Given the description of an element on the screen output the (x, y) to click on. 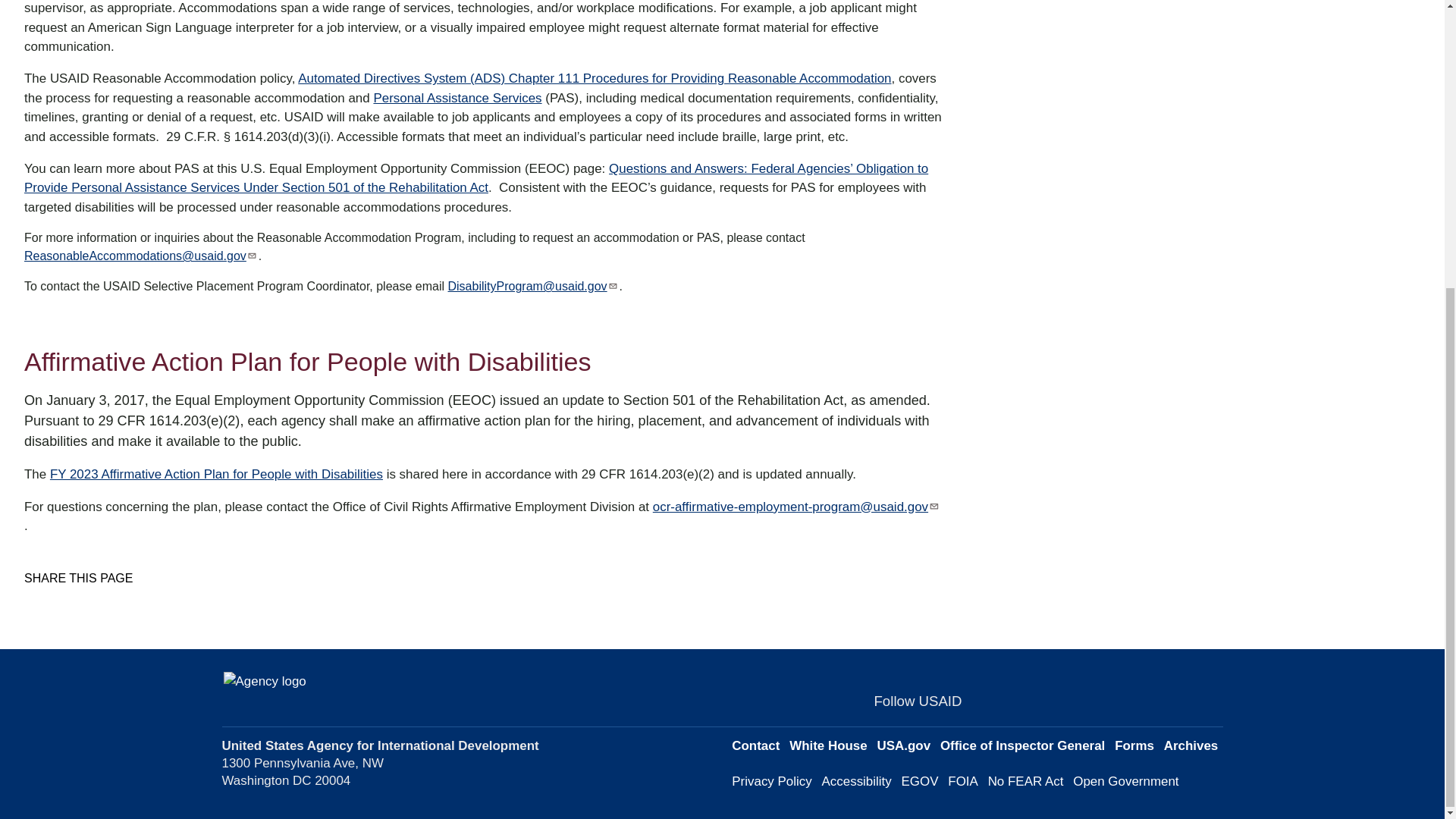
Share to X (56, 604)
Share to Facebook (34, 604)
Share to E-mail (98, 604)
Share to Linkedin (76, 604)
